Given the description of an element on the screen output the (x, y) to click on. 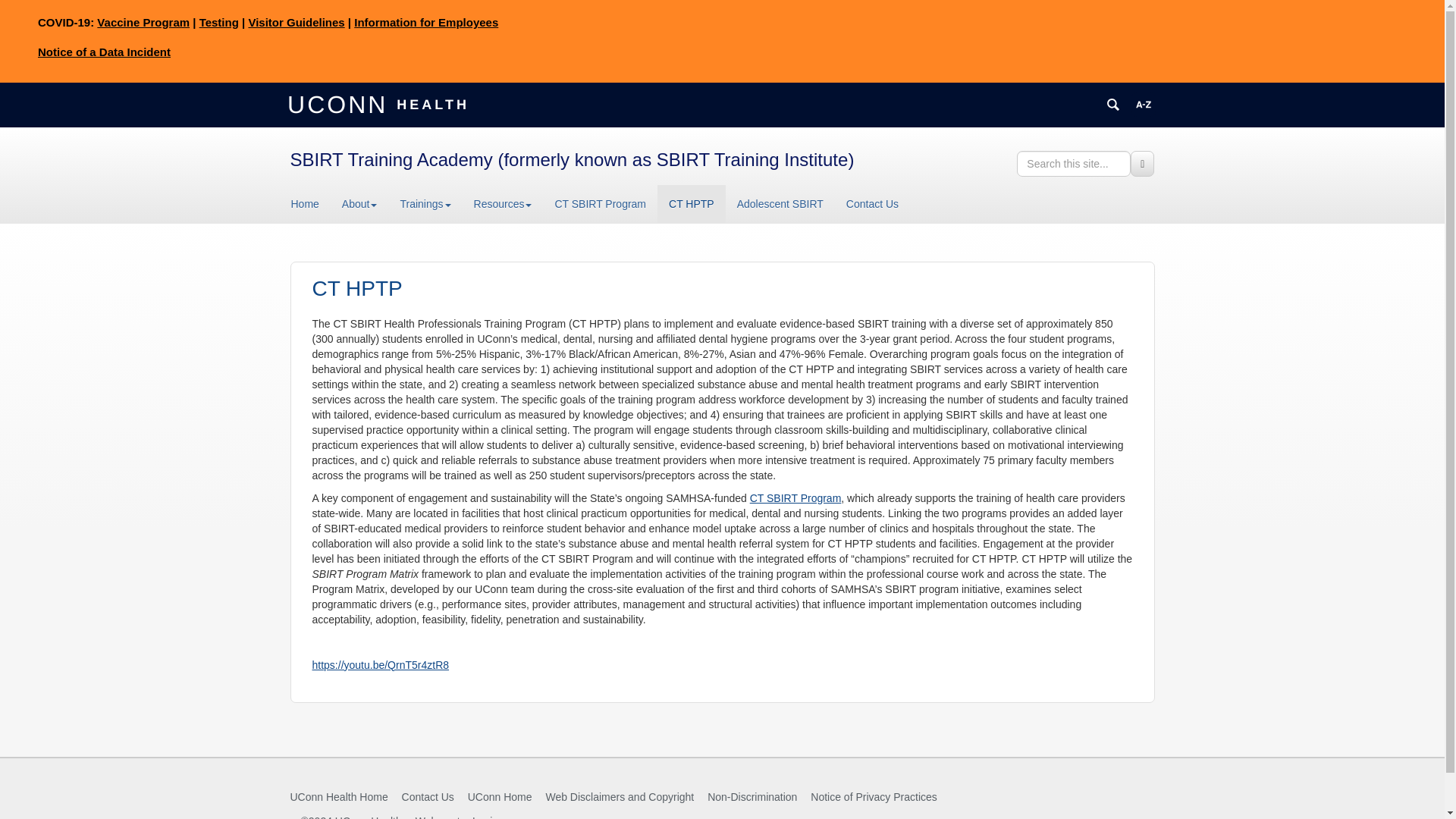
UCONN (340, 103)
Search UConn Health (1112, 104)
Visitor Guidelines (295, 21)
Information for Employees (425, 21)
Trainings (424, 203)
About (359, 203)
Search (1142, 163)
HEALTH (431, 103)
Notice of a Data Incident (103, 51)
Resources (503, 203)
